Given the description of an element on the screen output the (x, y) to click on. 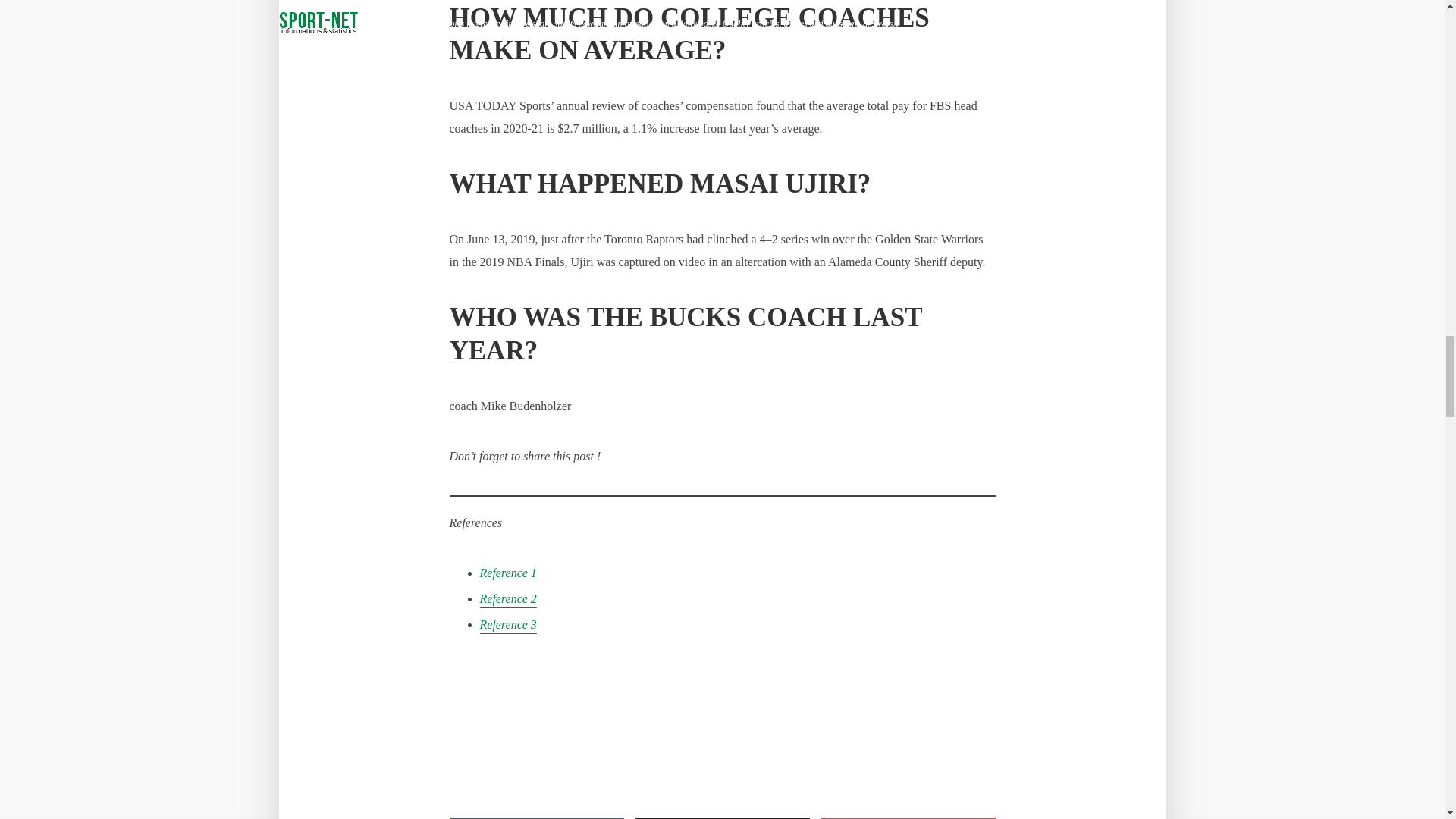
Reference 1 (507, 574)
Reference 3 (507, 625)
Reference 2 (507, 600)
